Given the description of an element on the screen output the (x, y) to click on. 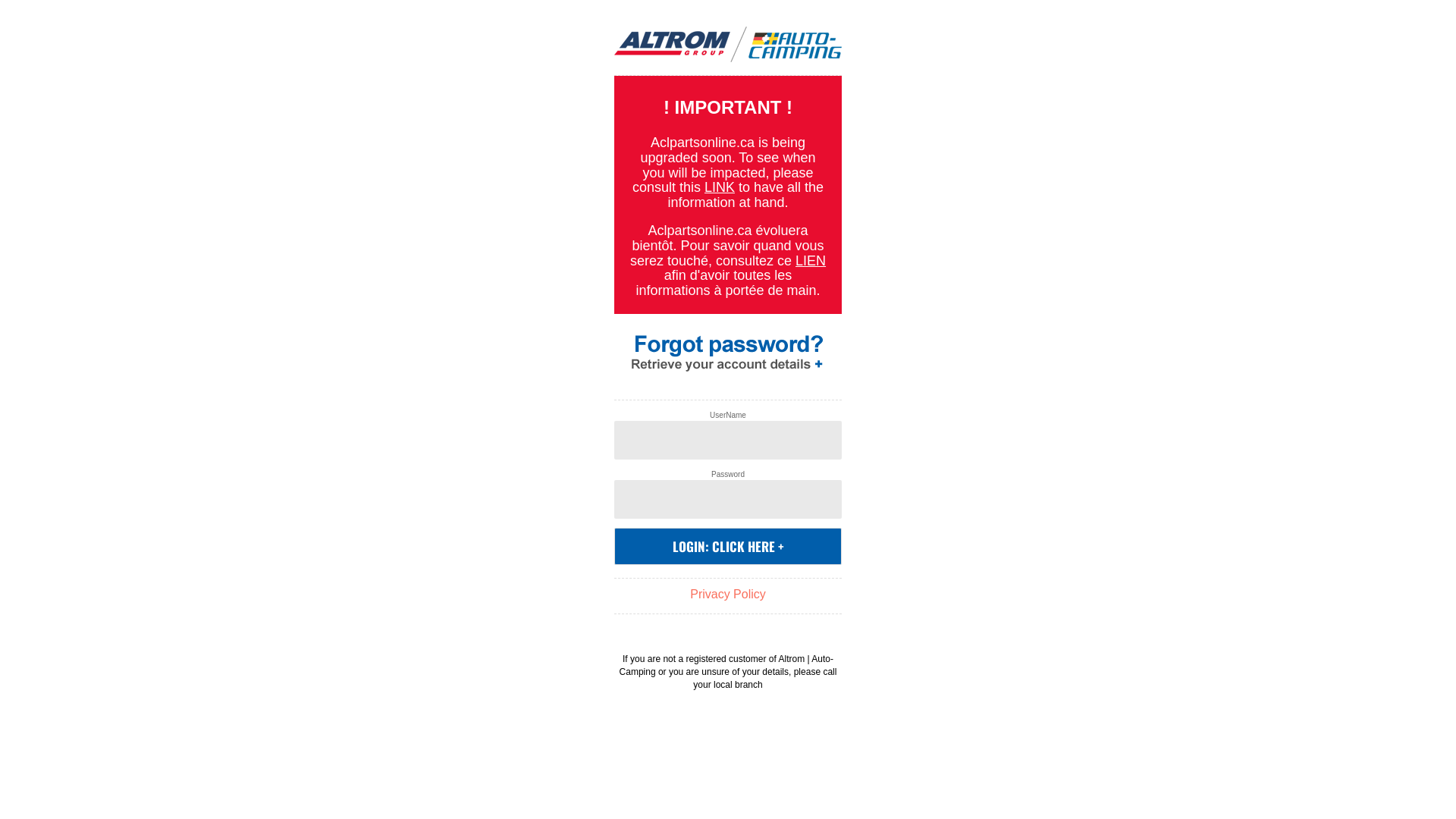
LIEN Element type: text (810, 260)
Login: Click Here + Element type: text (727, 545)
Privacy Policy Element type: text (727, 593)
LINK Element type: text (719, 186)
